Given the description of an element on the screen output the (x, y) to click on. 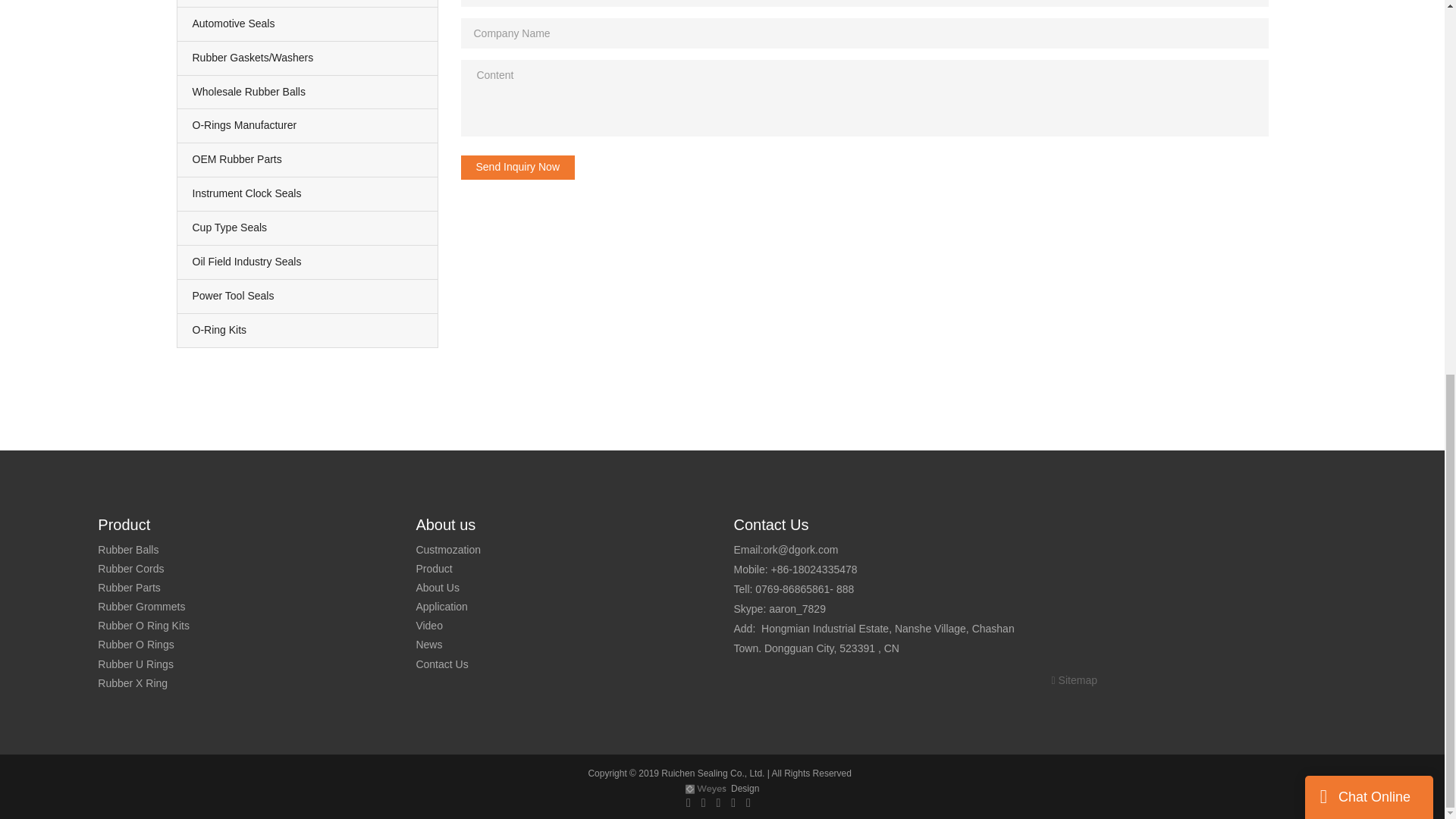
O-Rings Manufacturer (307, 125)
Wholesale Rubber Balls (307, 91)
Automotive Seals (307, 23)
